Given the description of an element on the screen output the (x, y) to click on. 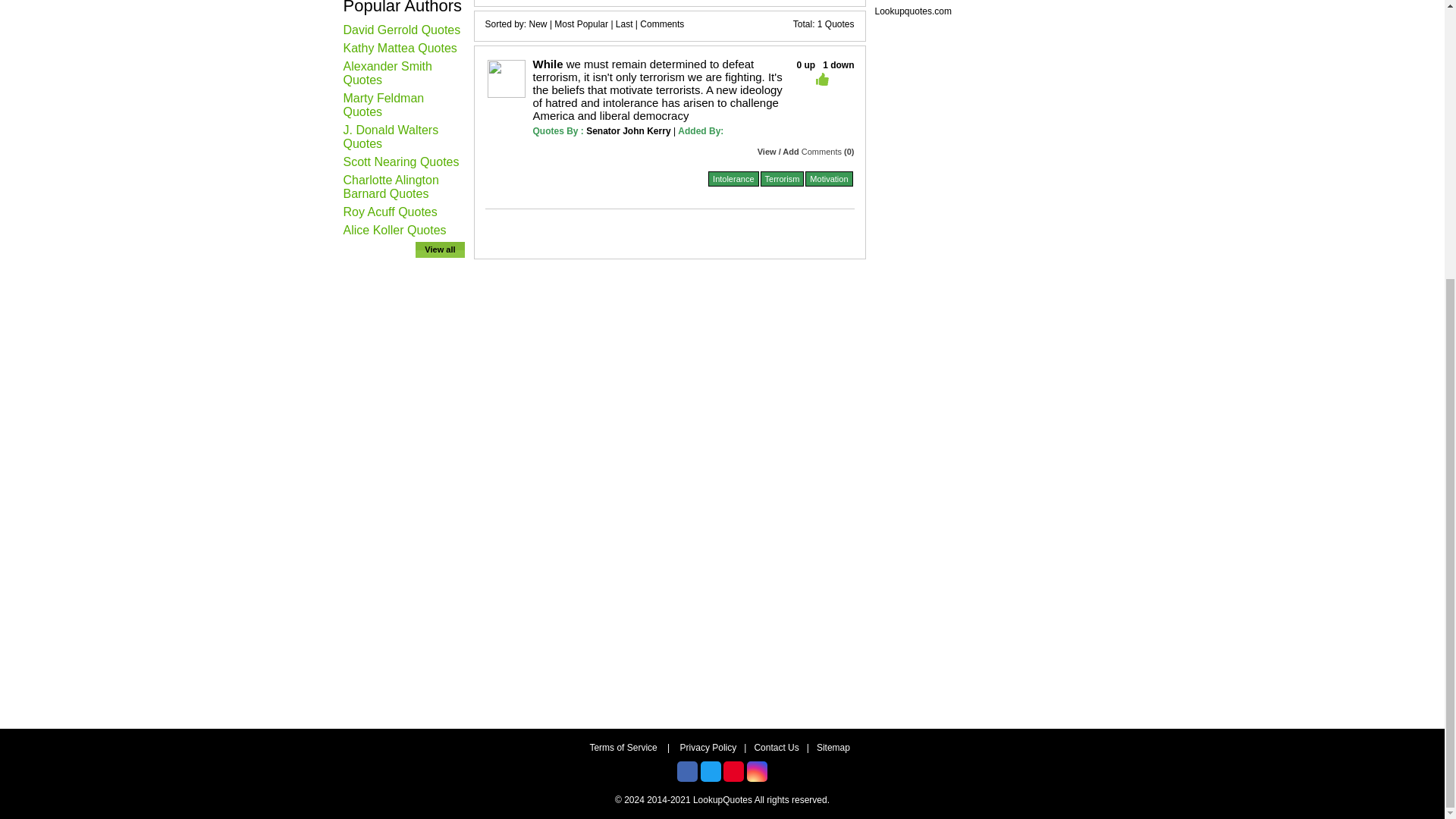
J. Donald Walters Quotes (390, 136)
Scott Nearing Quotes (400, 161)
Comments (662, 23)
Alice Koller Quotes (393, 229)
Alexander Smith Quotes (386, 72)
Charlotte Alington Barnard Quotes (390, 186)
Roy Acuff Quotes (389, 211)
View all (439, 249)
New (538, 23)
Marty Feldman Quotes (382, 104)
Last (624, 23)
David Gerrold Quotes (401, 29)
Kathy Mattea Quotes (399, 47)
Most Popular (581, 23)
